Given the description of an element on the screen output the (x, y) to click on. 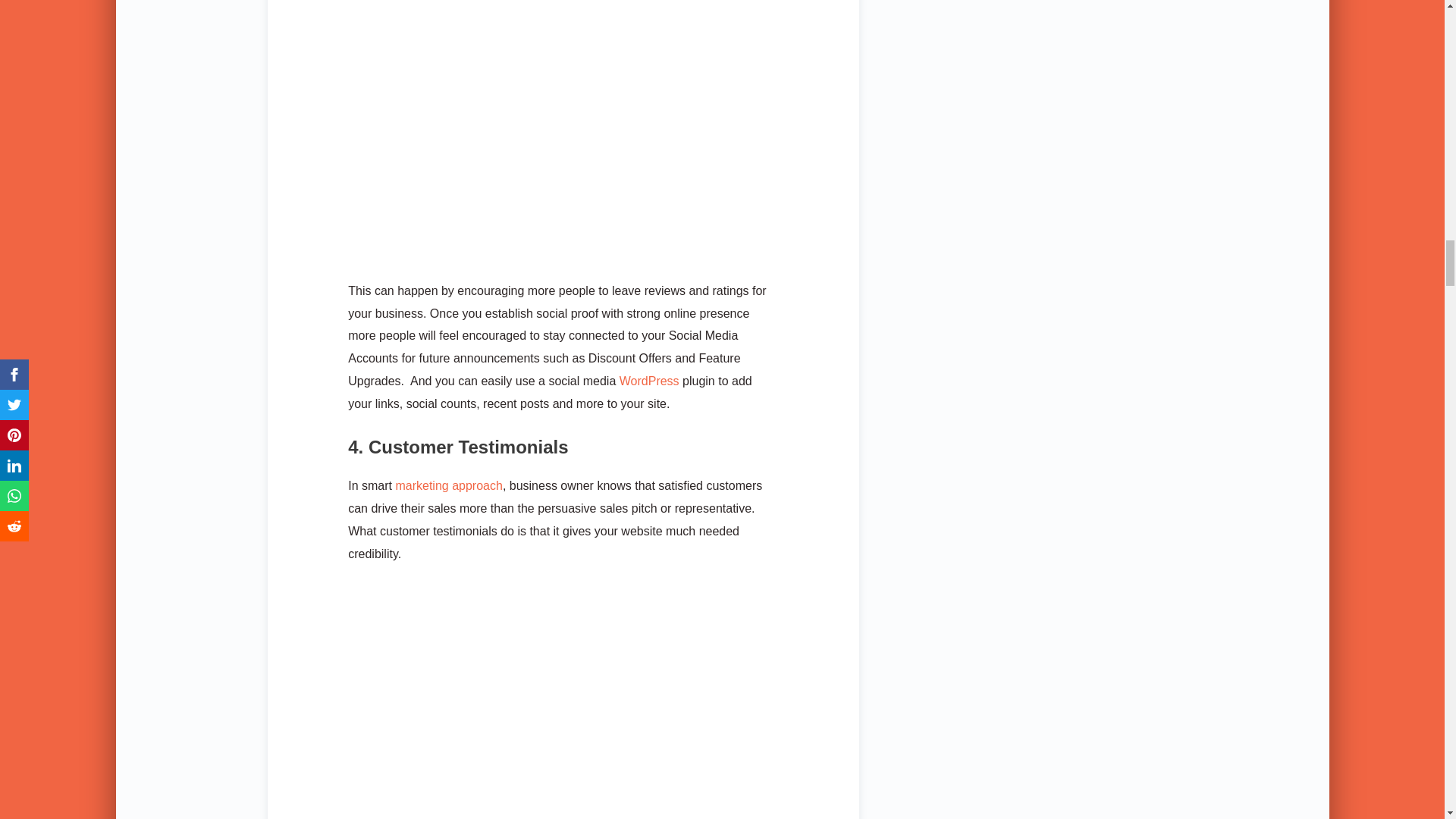
WordPress (649, 380)
WordPress (649, 380)
marketing approach (448, 485)
